Given the description of an element on the screen output the (x, y) to click on. 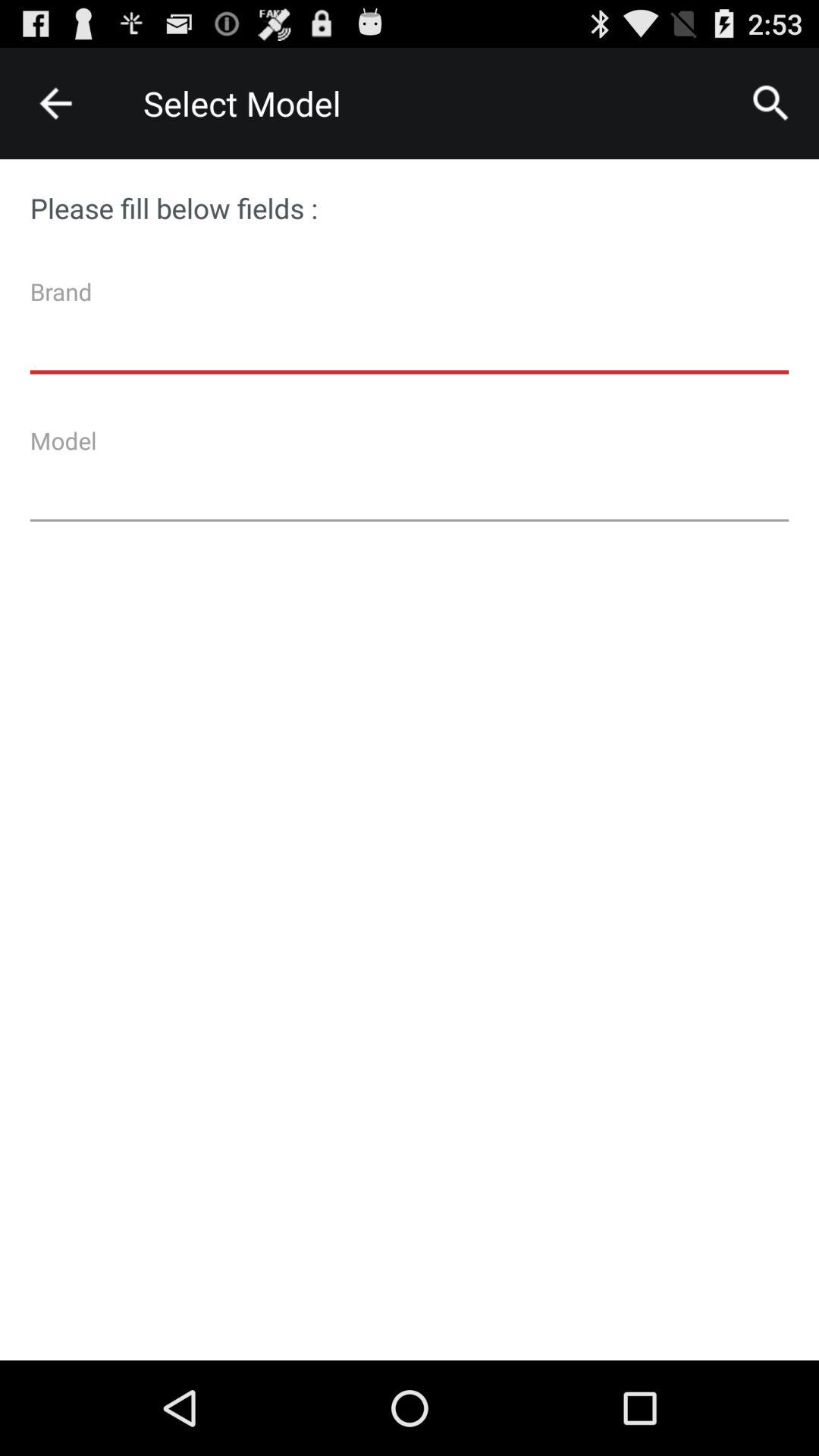
launch icon to the left of the select model icon (55, 103)
